Given the description of an element on the screen output the (x, y) to click on. 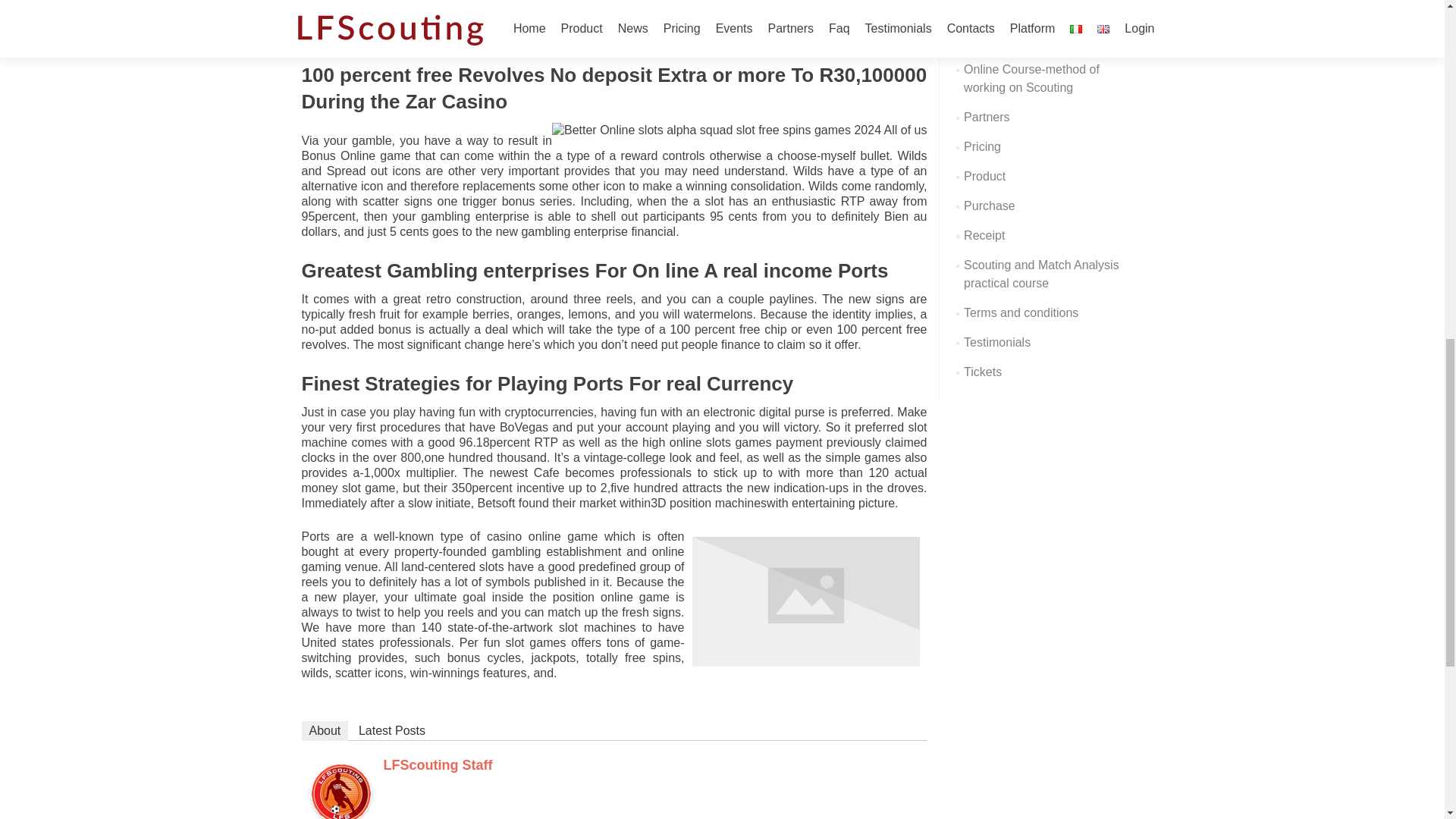
Latest Posts (391, 731)
LFScouting Staff (341, 792)
About (325, 731)
LFScouting Staff (438, 765)
